Given the description of an element on the screen output the (x, y) to click on. 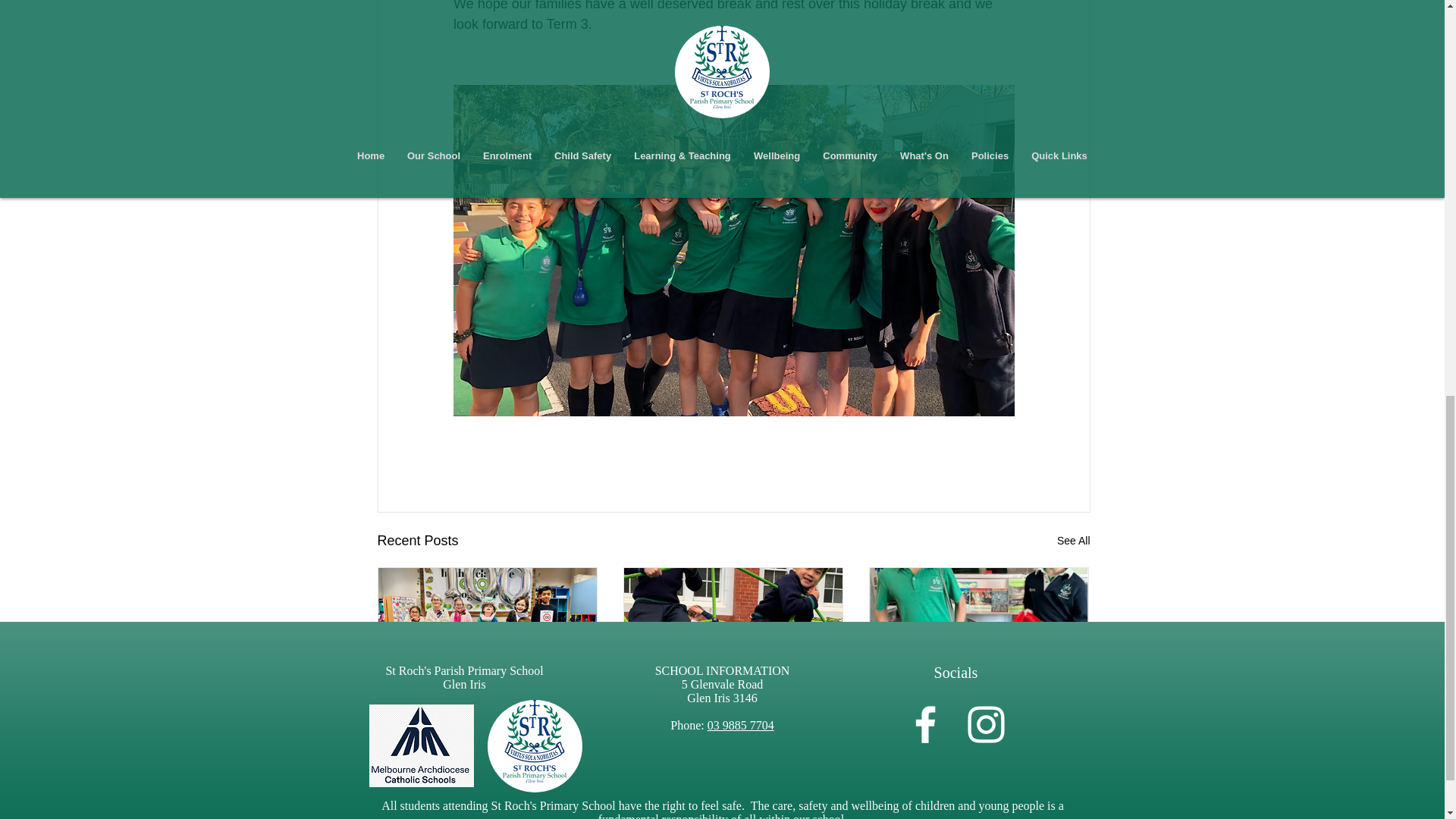
See All (1073, 540)
Newsletter 2nd August 2024 (487, 716)
03 9885 7704 (740, 725)
Newsletter 28th June 2024 (977, 716)
Newsletter 19th July 2024 (733, 716)
